Given the description of an element on the screen output the (x, y) to click on. 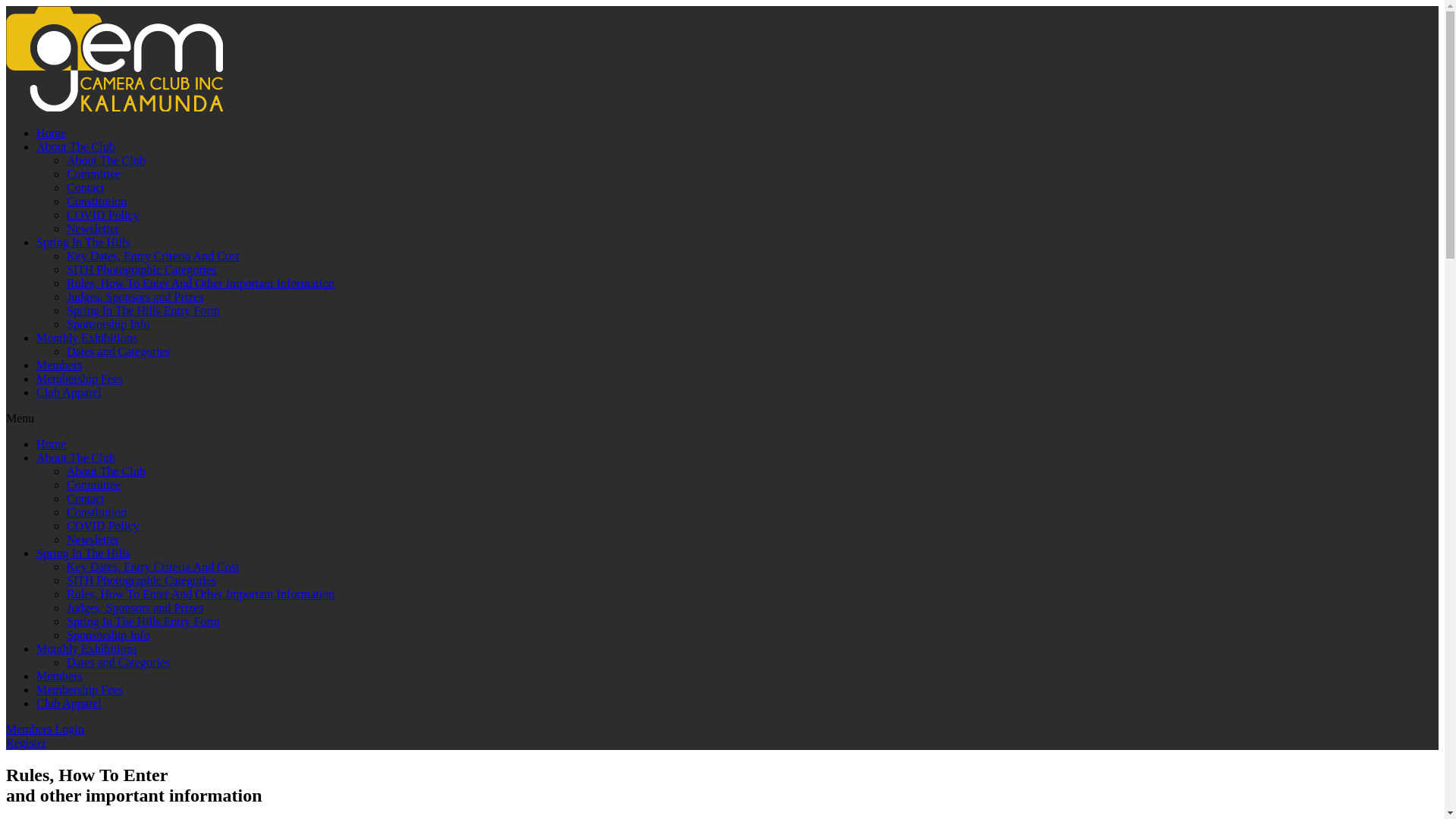
About The Club Element type: text (105, 470)
Key Dates, Entry Criteria And Cost Element type: text (152, 255)
Home Element type: text (50, 443)
Committee Element type: text (93, 173)
Constitution Element type: text (96, 511)
COVID Policy Element type: text (102, 525)
Members Element type: text (58, 364)
Spring In The Hills Entry Form Element type: text (142, 621)
Judges, Sponsors and Prizes Element type: text (134, 607)
Spring In The Hills Element type: text (83, 241)
Sponsorship Info Element type: text (108, 323)
Monthly Exhibitions Element type: text (86, 337)
Judges, Sponsors and Prizes Element type: text (134, 296)
Club Apparel Element type: text (68, 702)
Key Dates, Entry Criteria And Cost Element type: text (152, 566)
SITH Photographic Categories Element type: text (141, 580)
SITH Photographic Categories Element type: text (141, 269)
Contact Element type: text (85, 498)
Dates and Categories Element type: text (117, 661)
Committee Element type: text (93, 484)
Home Element type: text (50, 132)
Sponsorship Info Element type: text (108, 634)
Dates and Categories Element type: text (117, 351)
Rules, How To Enter And Other Important Information Element type: text (200, 593)
Contact Element type: text (85, 187)
About The Club Element type: text (75, 146)
About The Club Element type: text (75, 457)
Membership Fees Element type: text (79, 689)
About The Club Element type: text (105, 159)
Register Element type: text (26, 742)
Spring In The Hills Element type: text (83, 552)
Newsletter Element type: text (92, 539)
Members Login Element type: text (45, 728)
Monthly Exhibitions Element type: text (86, 648)
Newsletter Element type: text (92, 228)
Club Apparel Element type: text (68, 391)
Constitution Element type: text (96, 200)
Members Element type: text (58, 675)
Membership Fees Element type: text (79, 378)
Skip to content Element type: text (5, 5)
COVID Policy Element type: text (102, 214)
Spring In The Hills Entry Form Element type: text (142, 310)
Rules, How To Enter And Other Important Information Element type: text (200, 282)
